Given the description of an element on the screen output the (x, y) to click on. 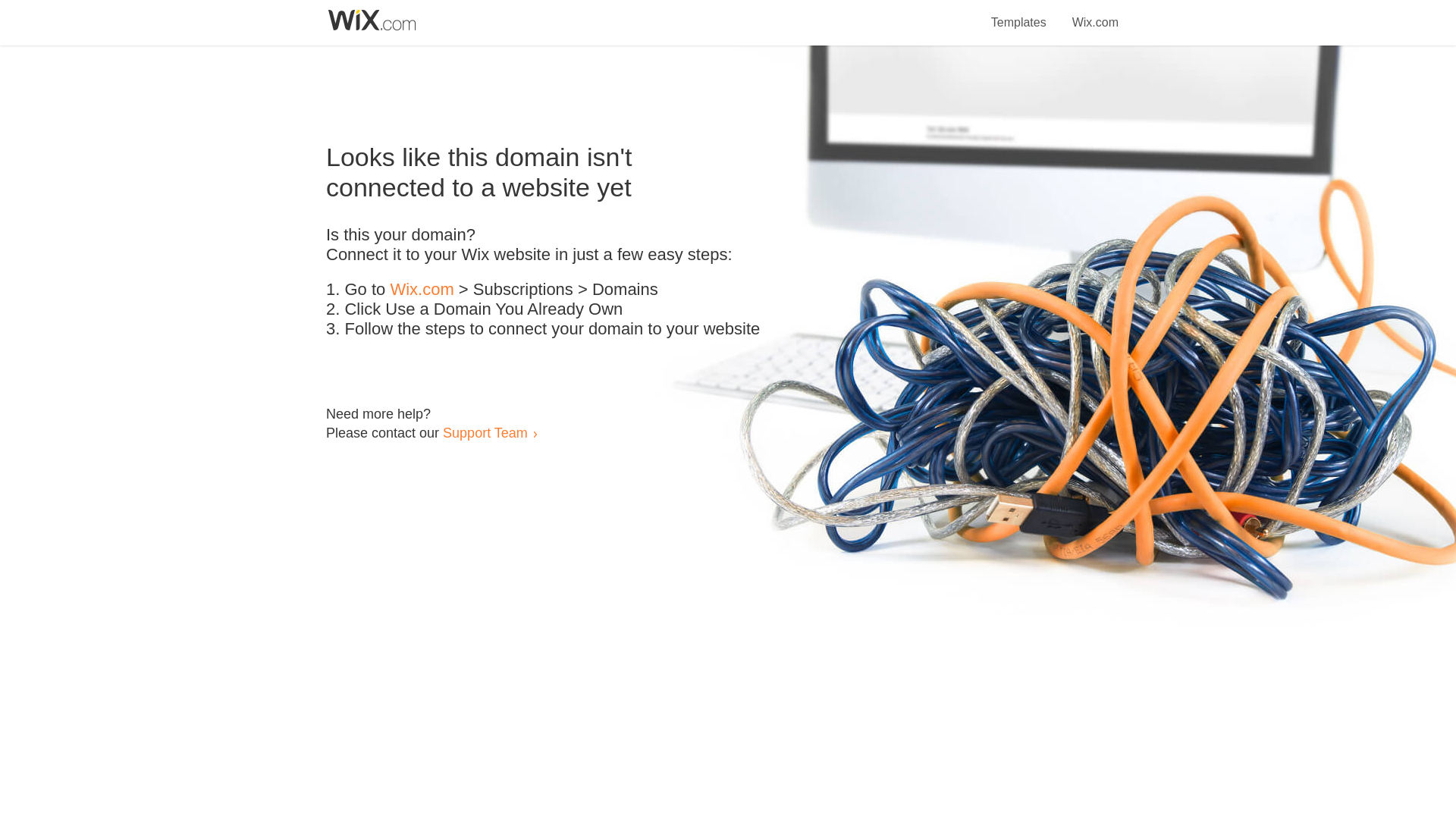
Support Team (484, 432)
Wix.com (1095, 14)
Wix.com (421, 289)
Templates (1018, 14)
